Given the description of an element on the screen output the (x, y) to click on. 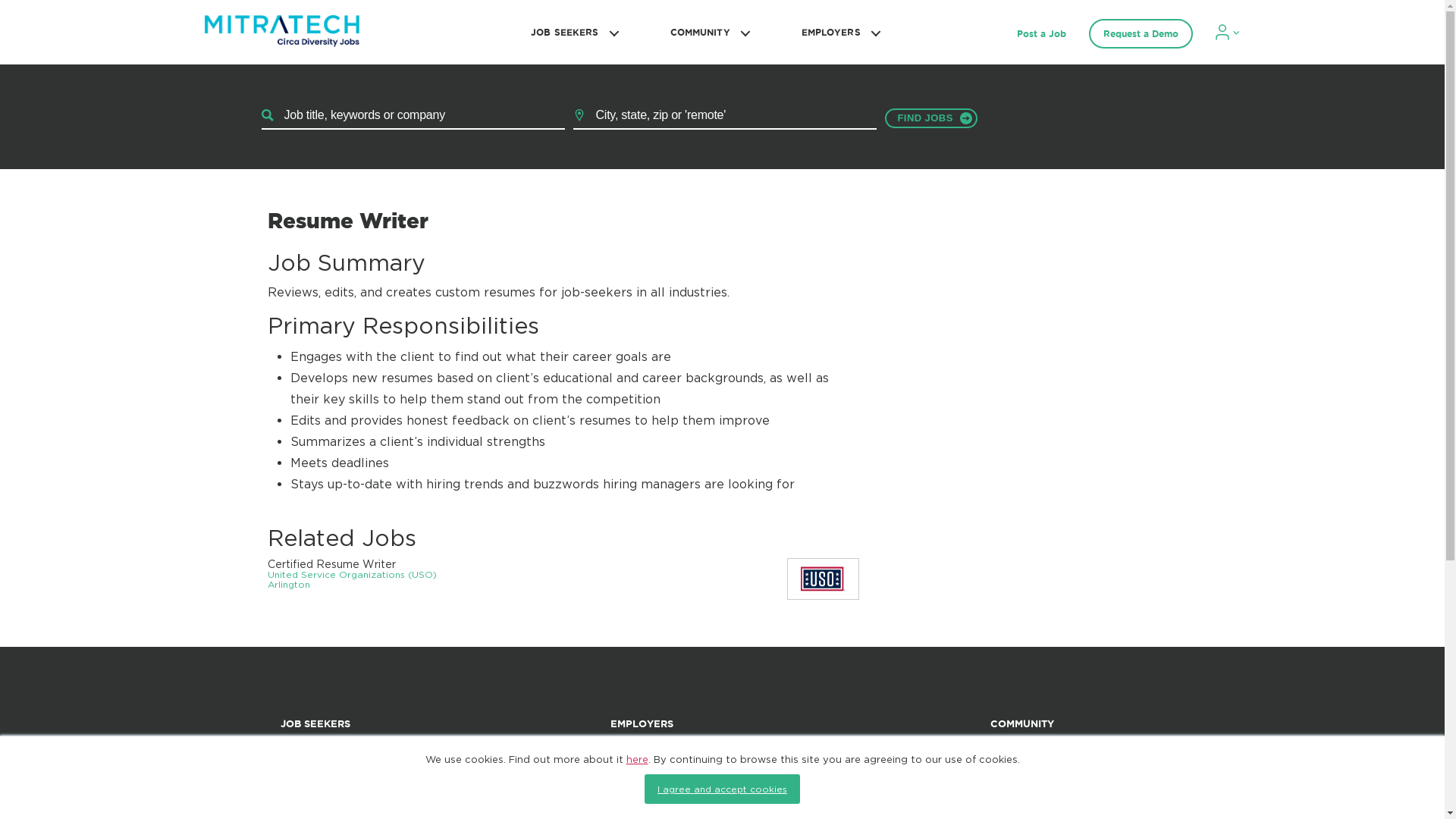
Job title, keywords or company (412, 115)
I agree and accept cookies (722, 788)
EMPLOYERS (839, 31)
What (412, 115)
Where (724, 115)
Find Jobs (929, 117)
Search (929, 117)
COMMUNITY (707, 31)
JOB SEEKERS (571, 31)
United-Service-Organizations-Uso (822, 578)
